Given the description of an element on the screen output the (x, y) to click on. 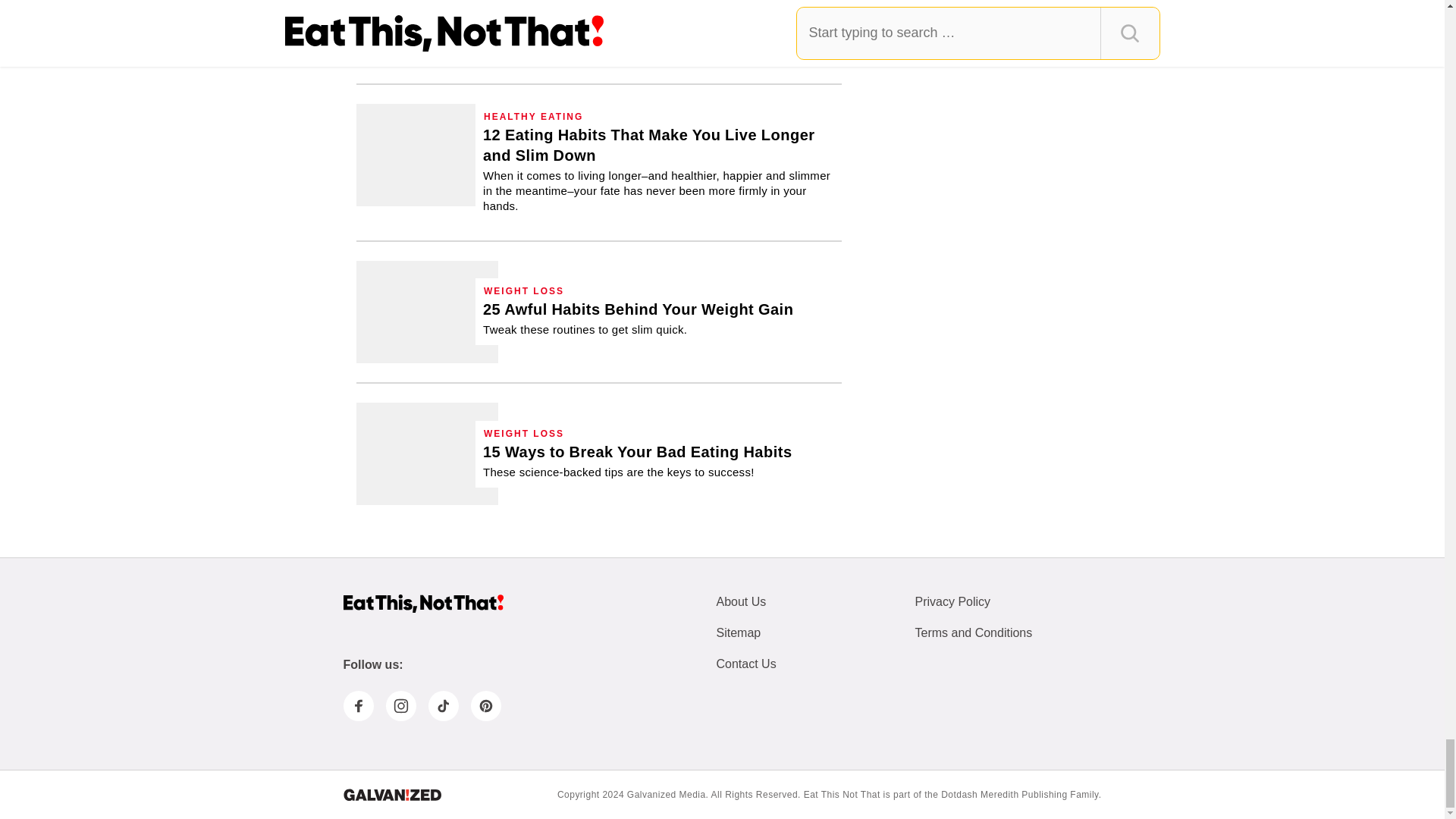
12 Eating Habits That Make You Live Longer and Slim Down (426, 155)
12 Eating Habits That Make You Live Longer and Slim Down (658, 169)
The Best-Ever Eating Habits for Weight Loss (426, 32)
The Best-Ever Eating Habits for Weight Loss (650, 19)
25 Worst Habits That Will Expand Your Waistline (426, 312)
25 Worst Habits That Will Expand Your Waistline (638, 318)
